Given the description of an element on the screen output the (x, y) to click on. 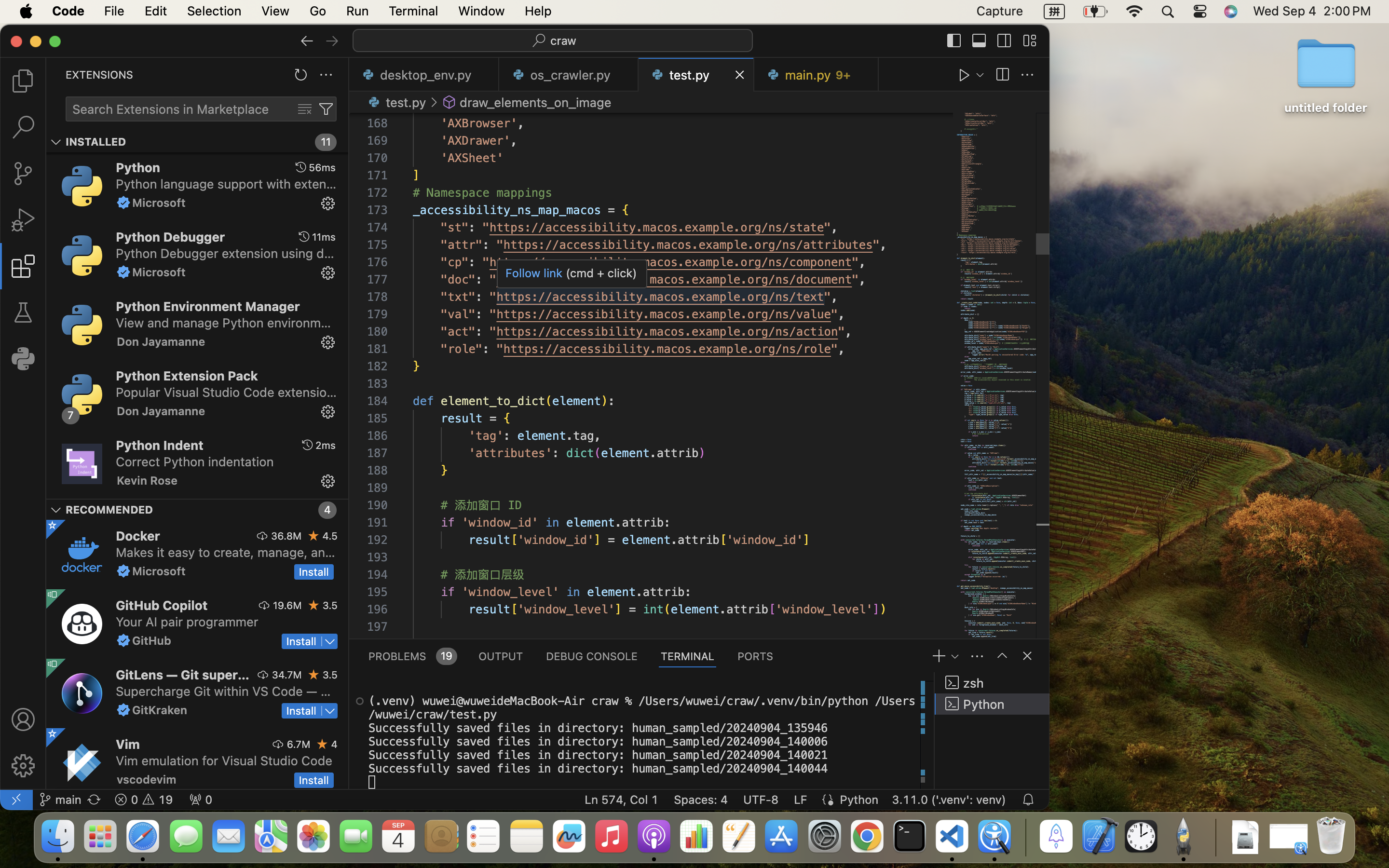
RECOMMENDED Element type: AXStaticText (109, 509)
0 OUTPUT Element type: AXRadioButton (500, 655)
0 main.py   9+ Element type: AXRadioButton (816, 74)
 Element type: AXGroup (23, 719)
 Element type: AXStaticText (52, 594)
